Given the description of an element on the screen output the (x, y) to click on. 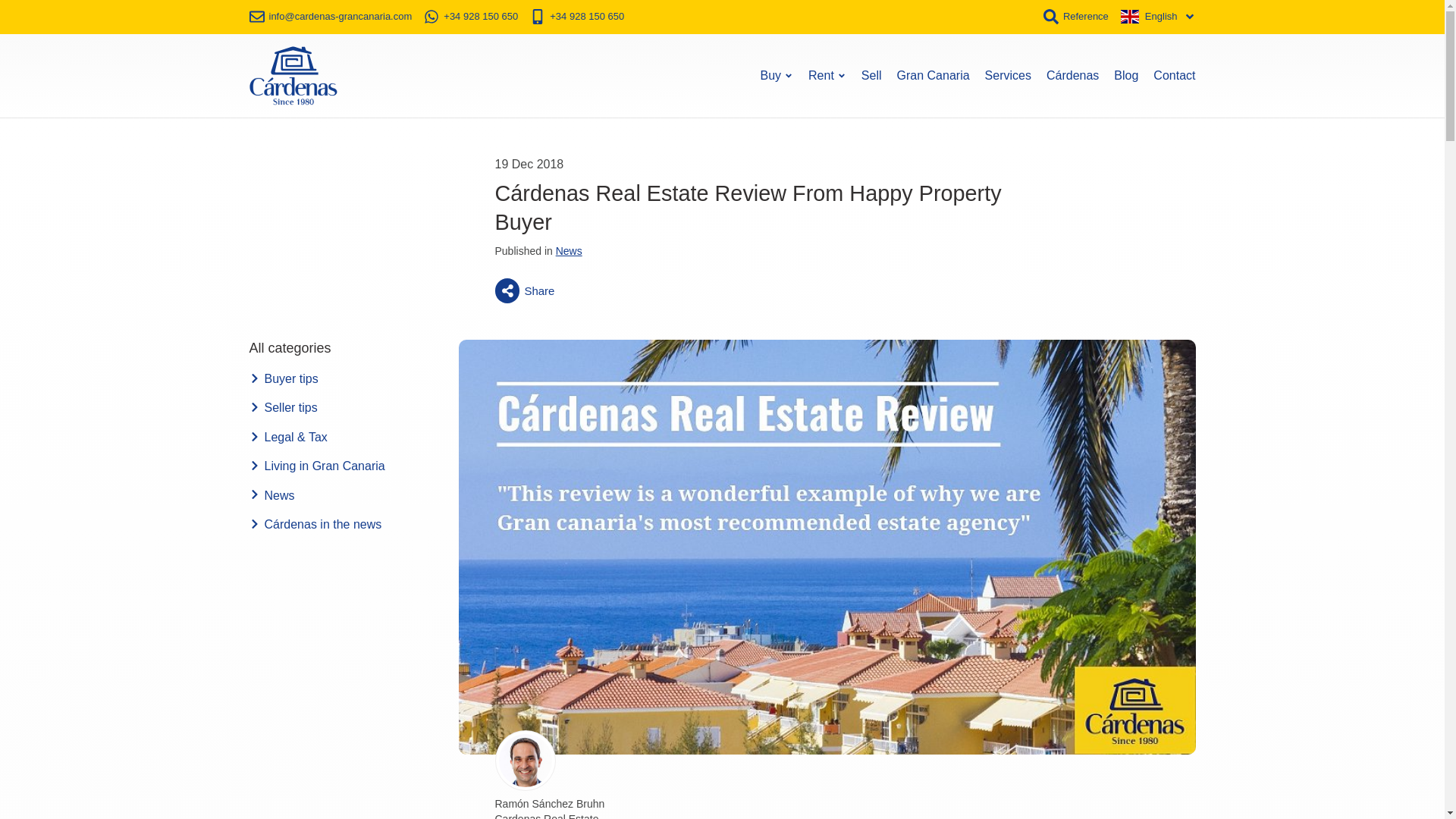
Rent (826, 75)
Buy (776, 75)
Reference (1075, 17)
